Given the description of an element on the screen output the (x, y) to click on. 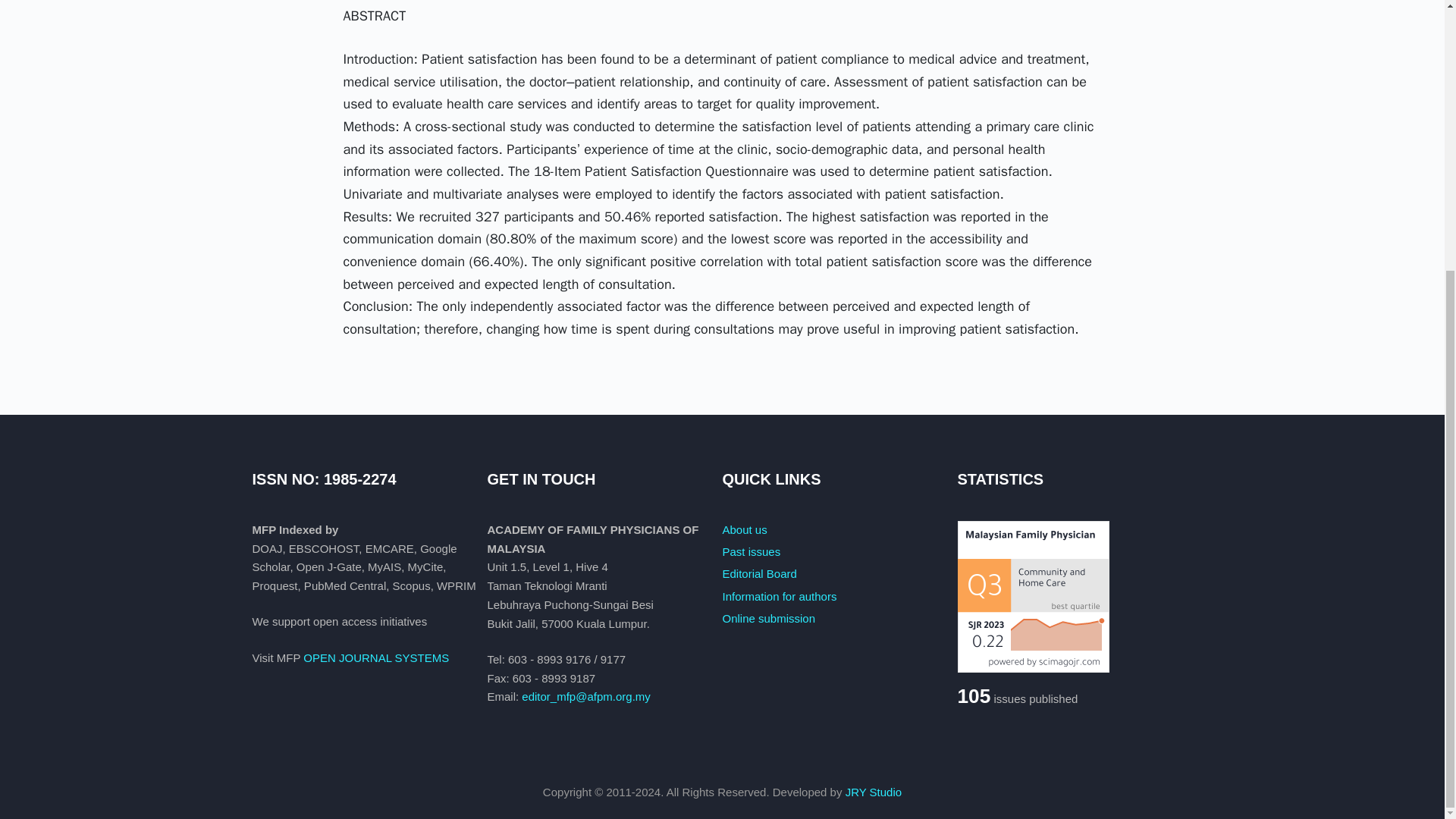
Online submission (768, 617)
About us (744, 529)
OPEN JOURNAL SYSTEMS (375, 657)
Past issues (751, 551)
JRY Studio (873, 791)
Information for authors (778, 595)
Editorial Board (759, 573)
